Given the description of an element on the screen output the (x, y) to click on. 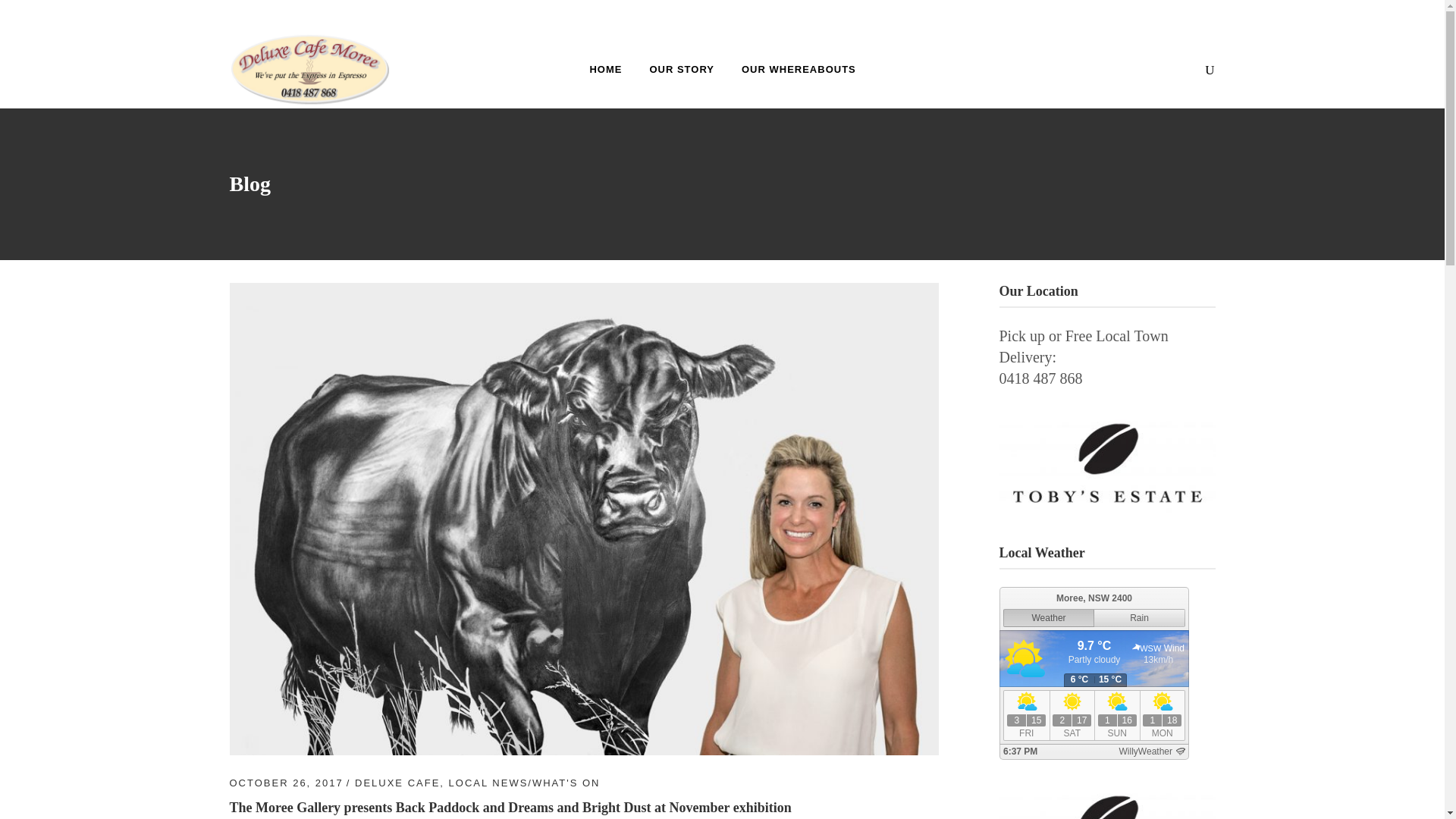
OUR STORY (681, 69)
DELUXE CAFE (397, 782)
OUR WHEREABOUTS (798, 69)
U (983, 413)
